Given the description of an element on the screen output the (x, y) to click on. 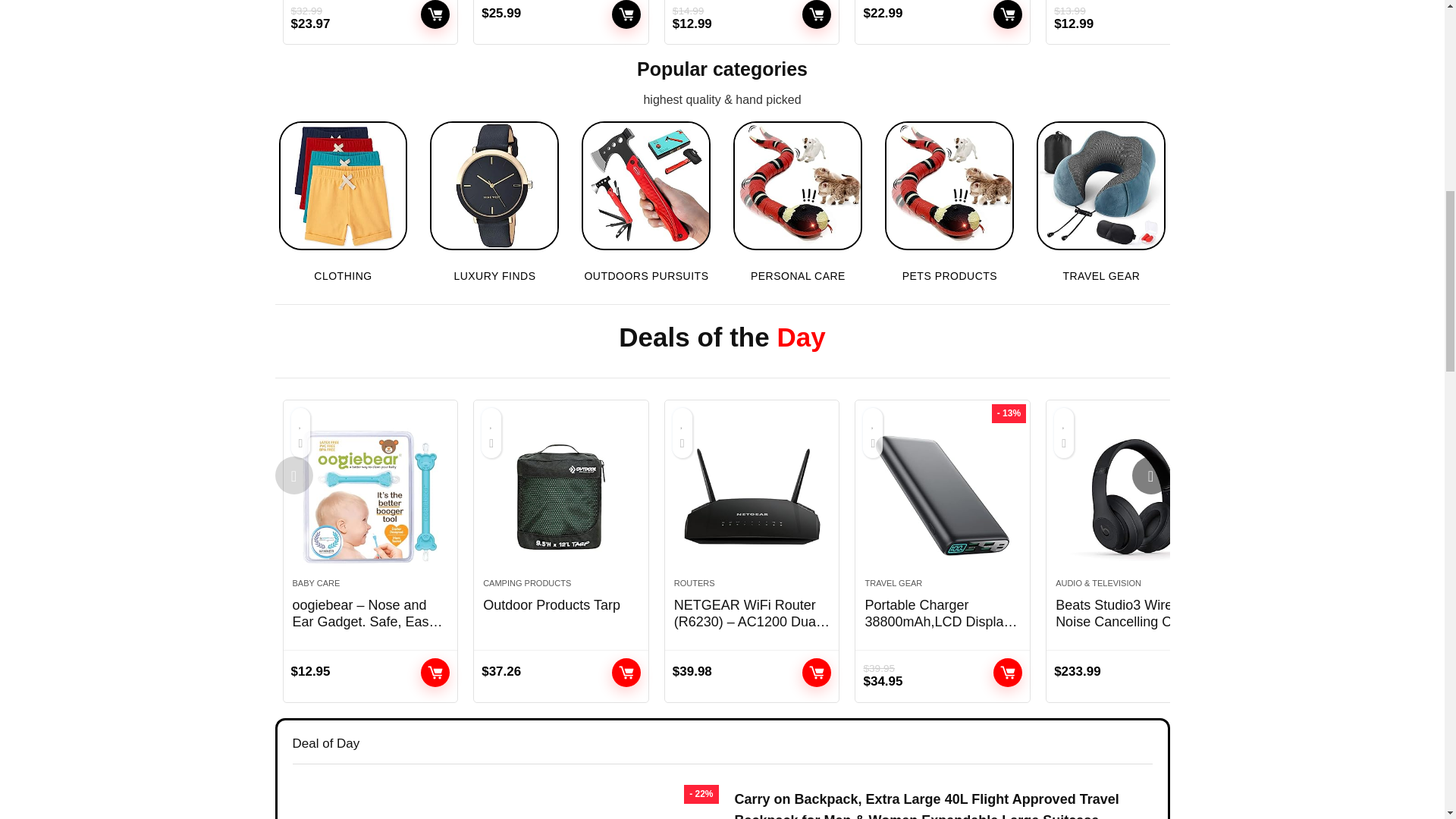
Outdoor Products Tarp (561, 496)
